Given the description of an element on the screen output the (x, y) to click on. 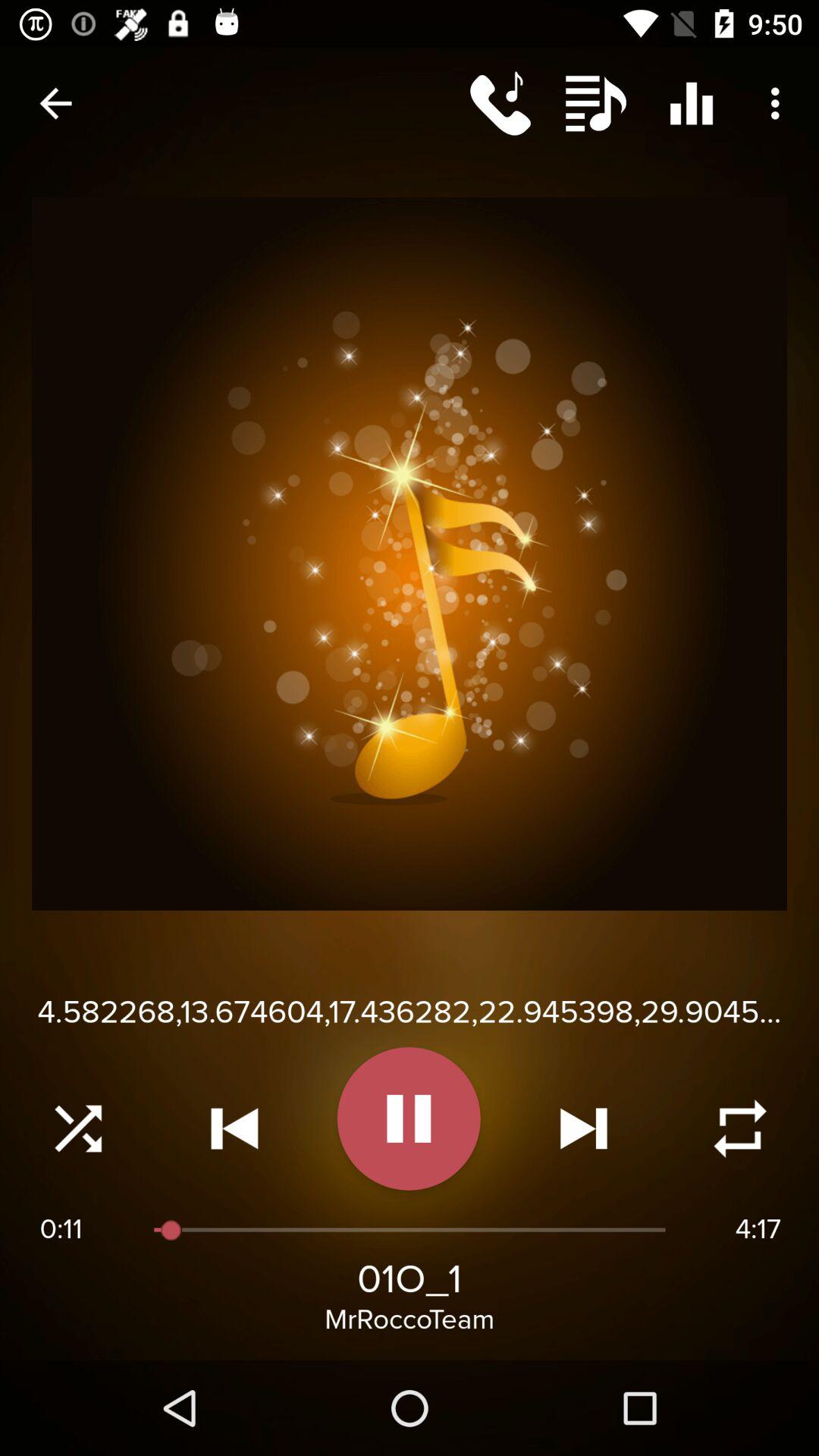
go to previous song (234, 1128)
